Given the description of an element on the screen output the (x, y) to click on. 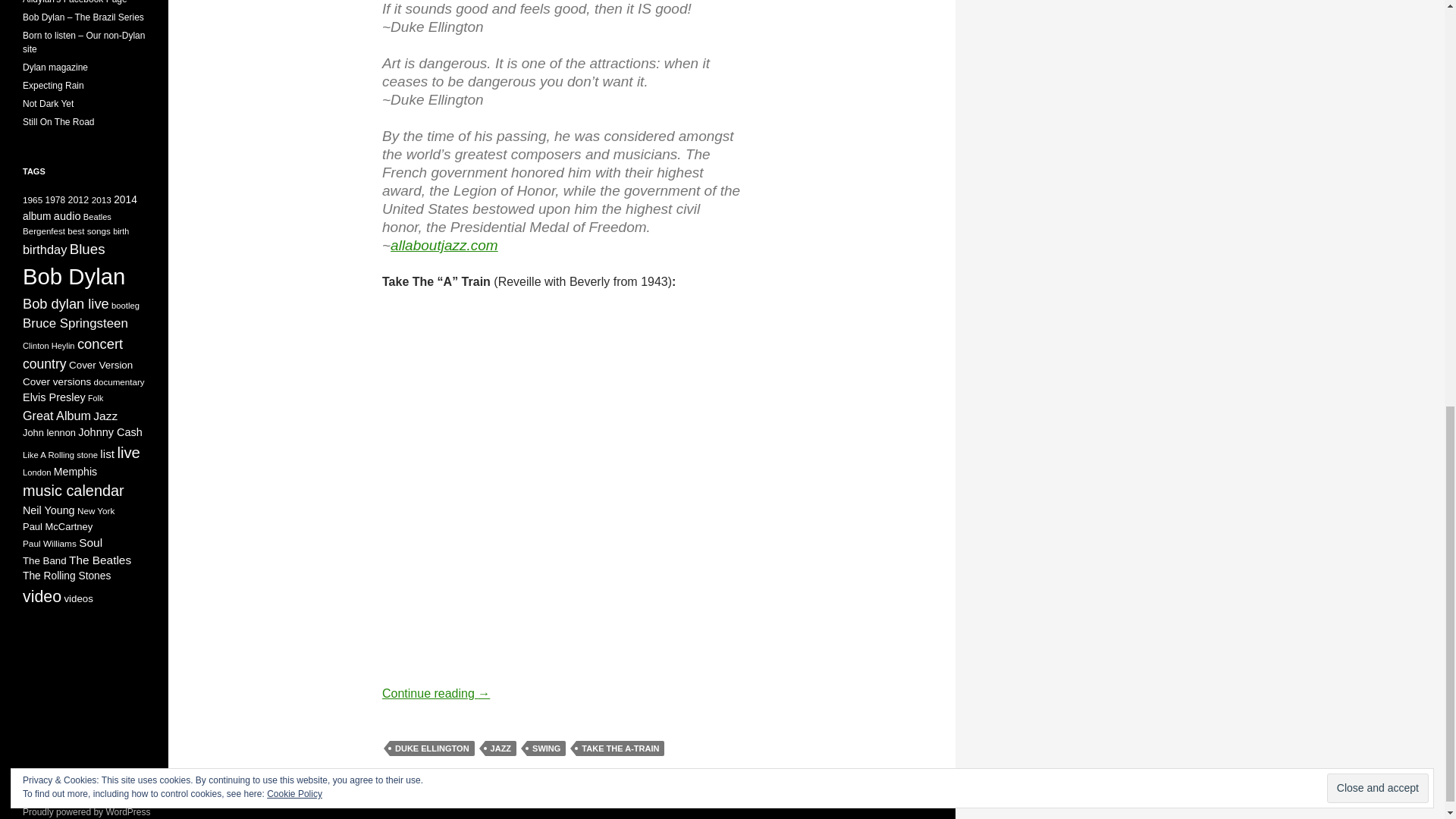
Head over to Born To Listen to check out our non-Dylan stuff (83, 42)
allaboutjazz.com (443, 245)
